Given the description of an element on the screen output the (x, y) to click on. 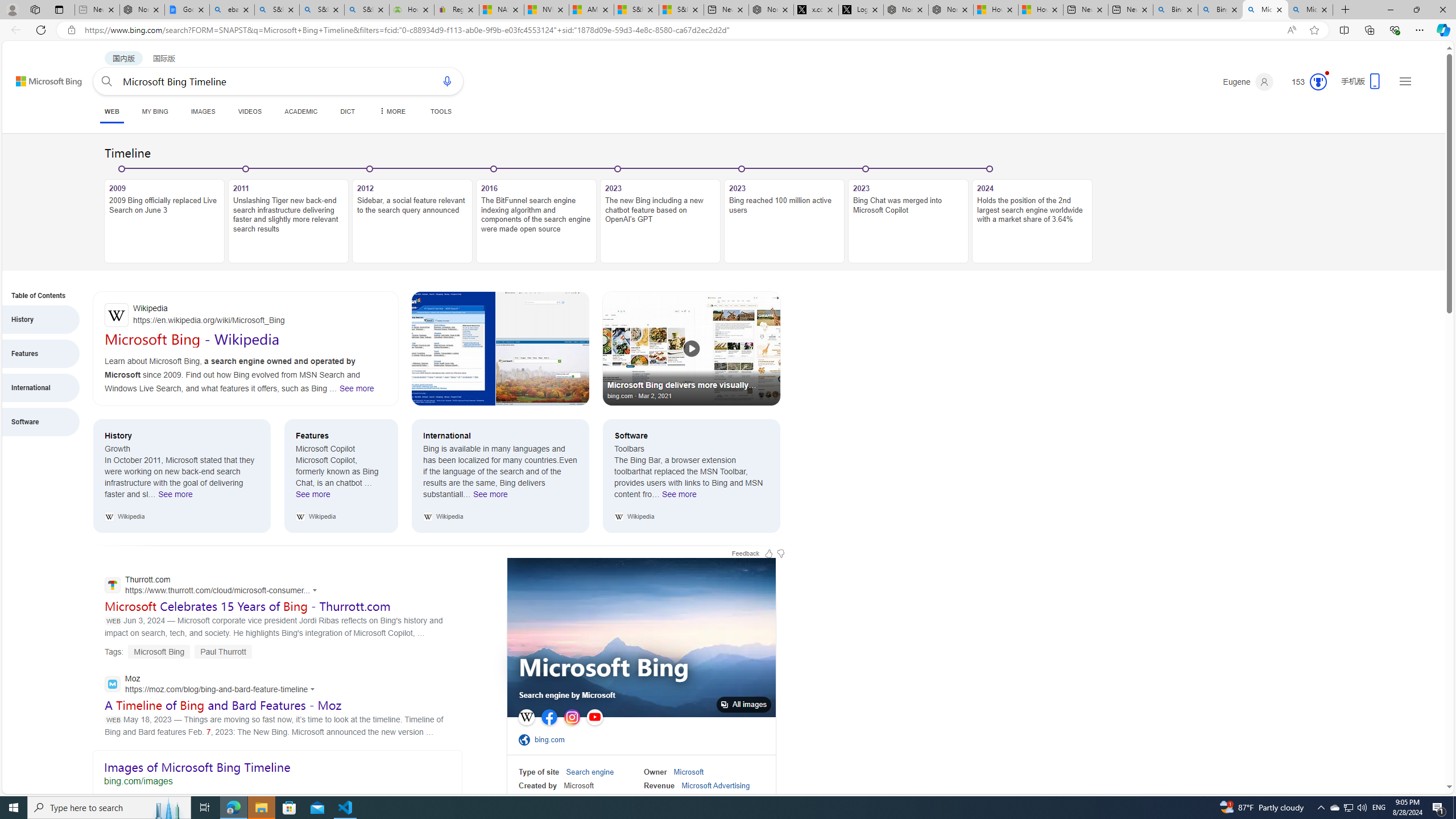
Class: sp-ofsite (523, 739)
Search using voice (446, 80)
Images of Microsoft Bing Timeline (277, 771)
IMAGES (202, 111)
Search engine (590, 772)
Official Site (526, 739)
YouTube (594, 716)
2023Bing reached 100 million active users (784, 214)
Wikipedia (526, 716)
